Given the description of an element on the screen output the (x, y) to click on. 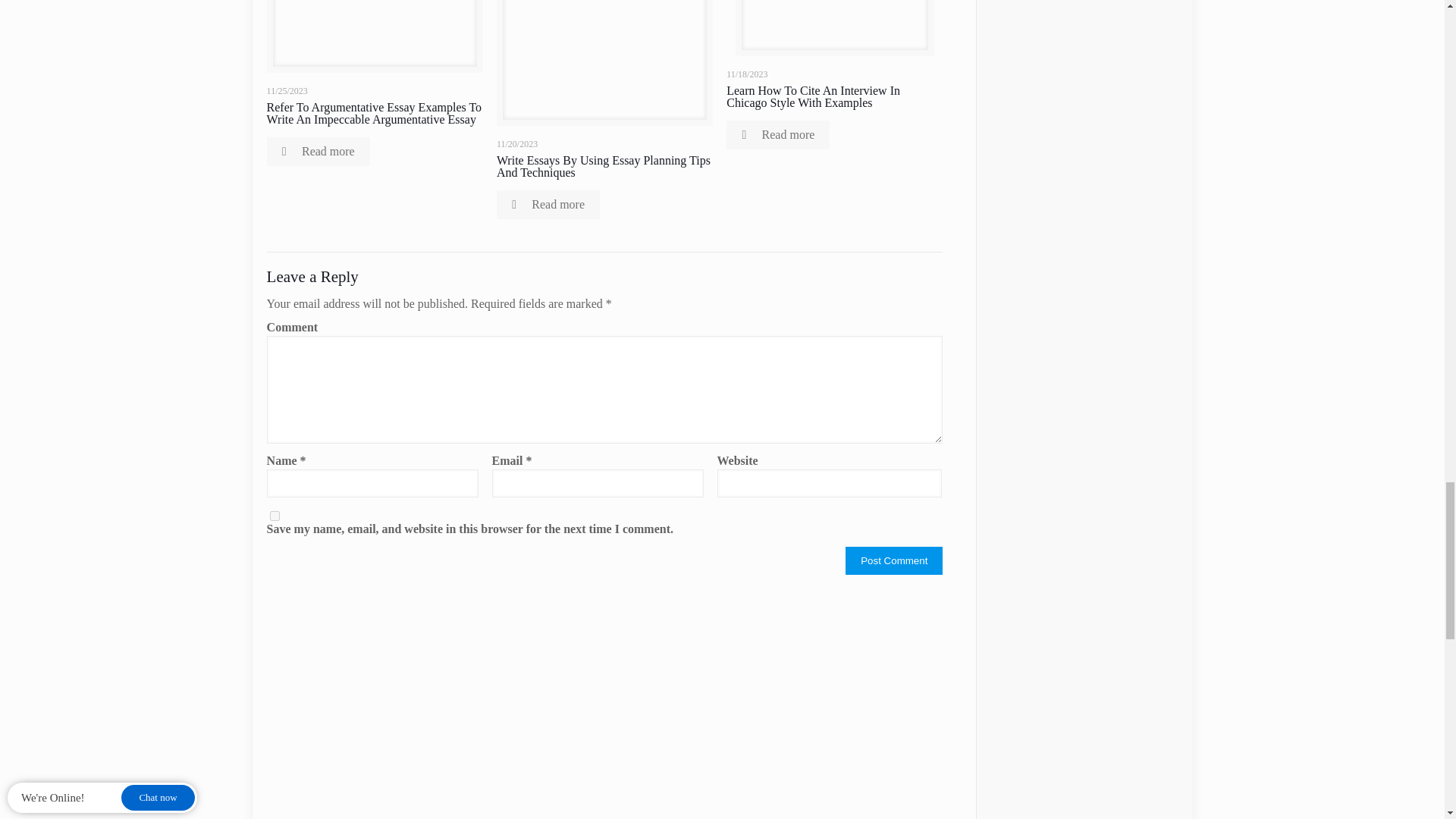
Read more (547, 204)
Write Essays By Using Essay Planning Tips And Techniques (603, 166)
yes (274, 515)
Read more (777, 134)
Read more (317, 151)
Post Comment (893, 560)
